Given the description of an element on the screen output the (x, y) to click on. 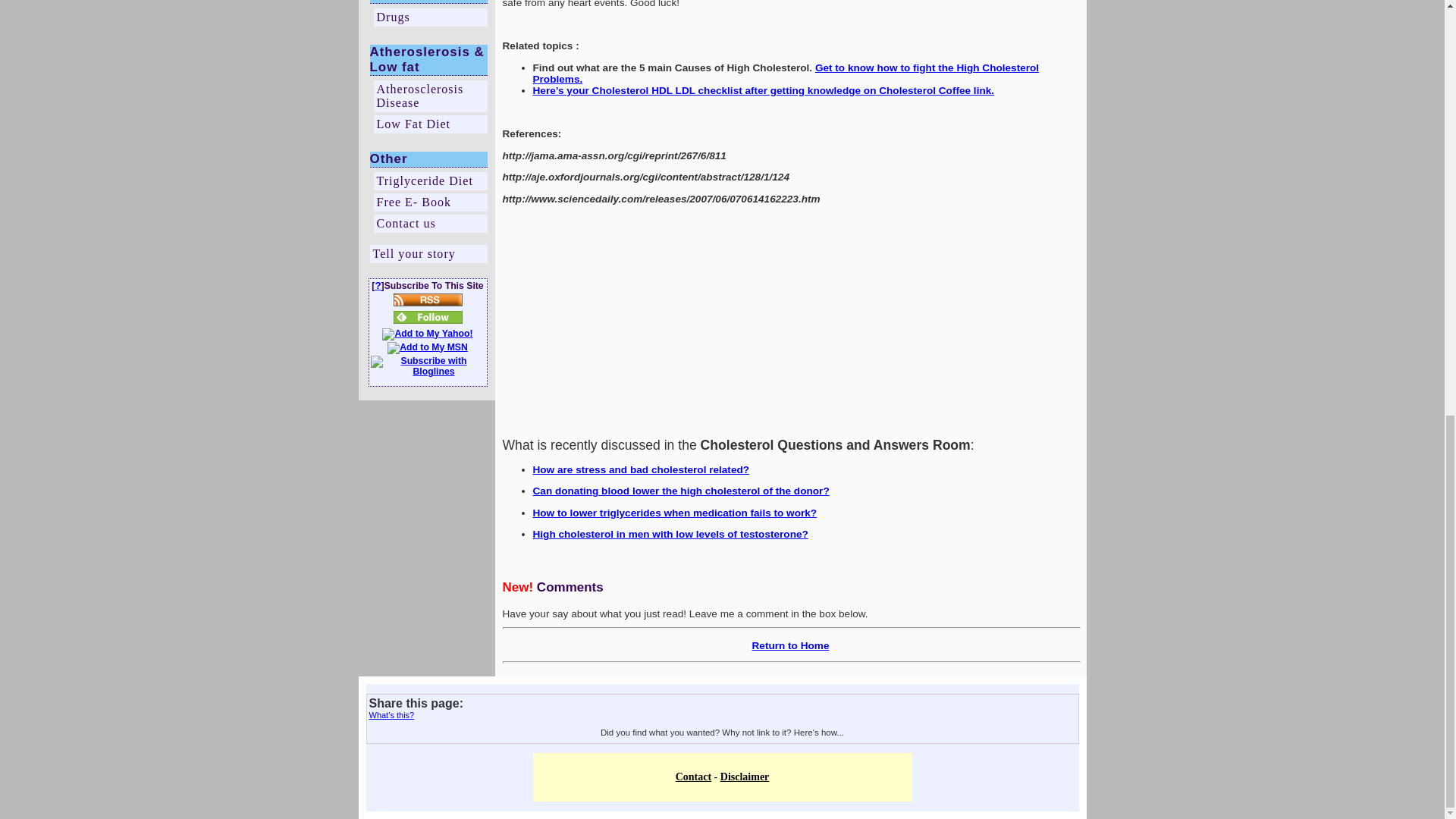
Contact (693, 776)
Free E- Book (429, 202)
High cholesterol in men with low levels of testosterone? (670, 533)
Get to know how to fight the High Cholesterol Problems. (785, 73)
Return to Home (790, 645)
Tell your story (428, 253)
Drugs (429, 17)
Contact us (429, 223)
How to lower triglycerides when medication fails to work? (674, 512)
Disclaimer (745, 776)
